Given the description of an element on the screen output the (x, y) to click on. 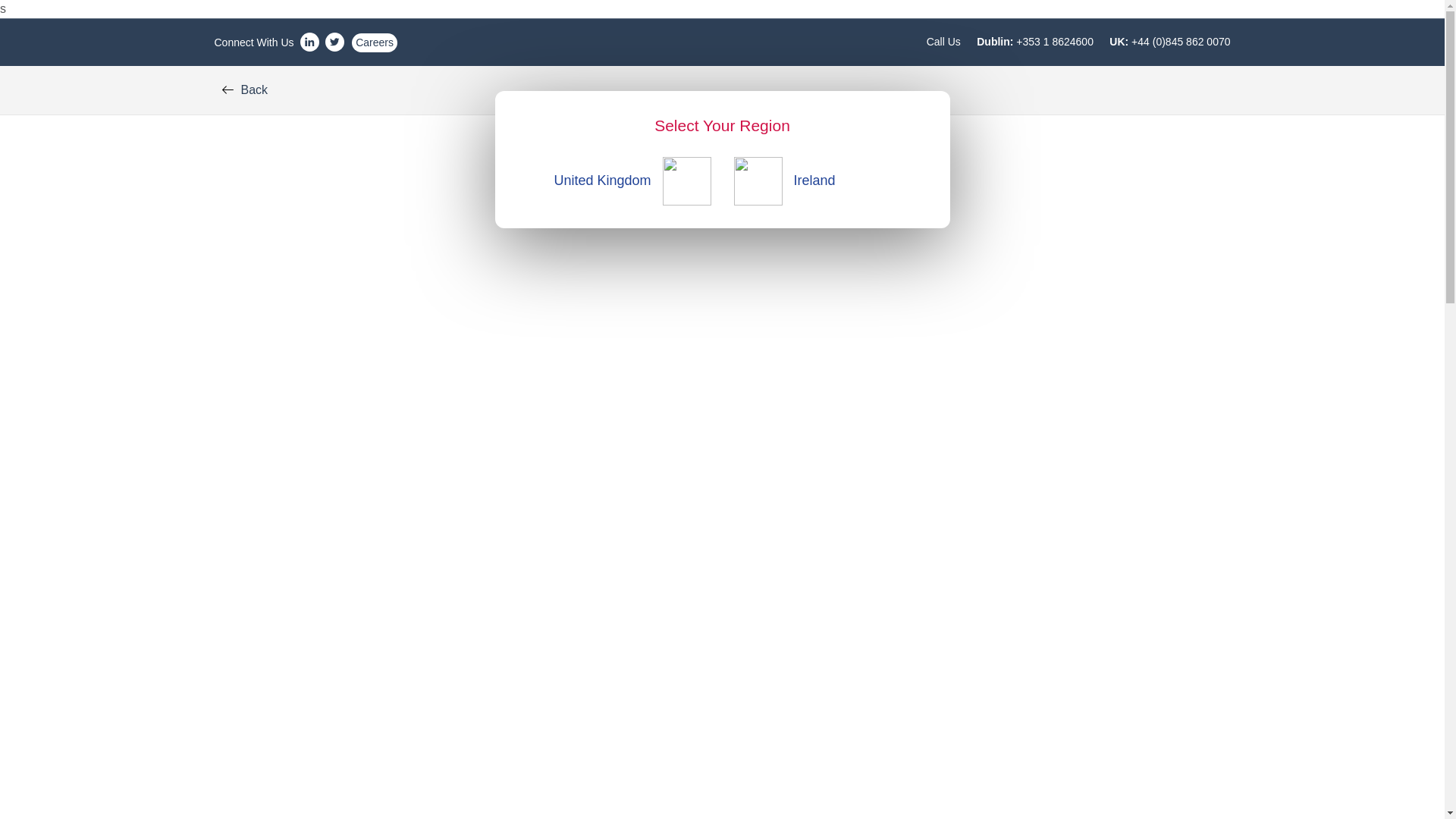
Ireland (824, 180)
Back to News (244, 90)
United Kingdom (619, 180)
Back (244, 90)
Careers (374, 42)
